Given the description of an element on the screen output the (x, y) to click on. 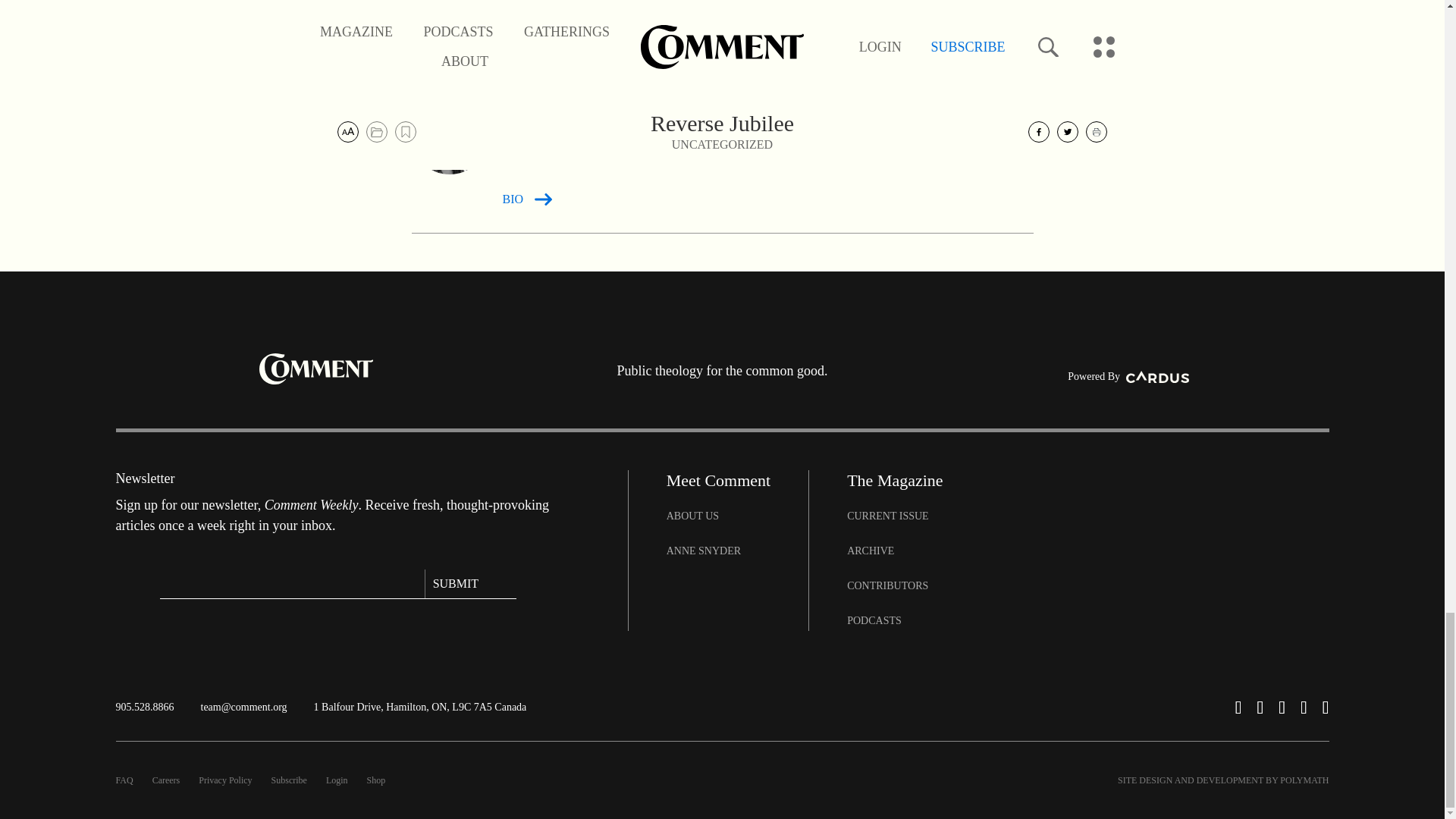
Comment Logo - Cream (315, 368)
Submit (470, 583)
